Given the description of an element on the screen output the (x, y) to click on. 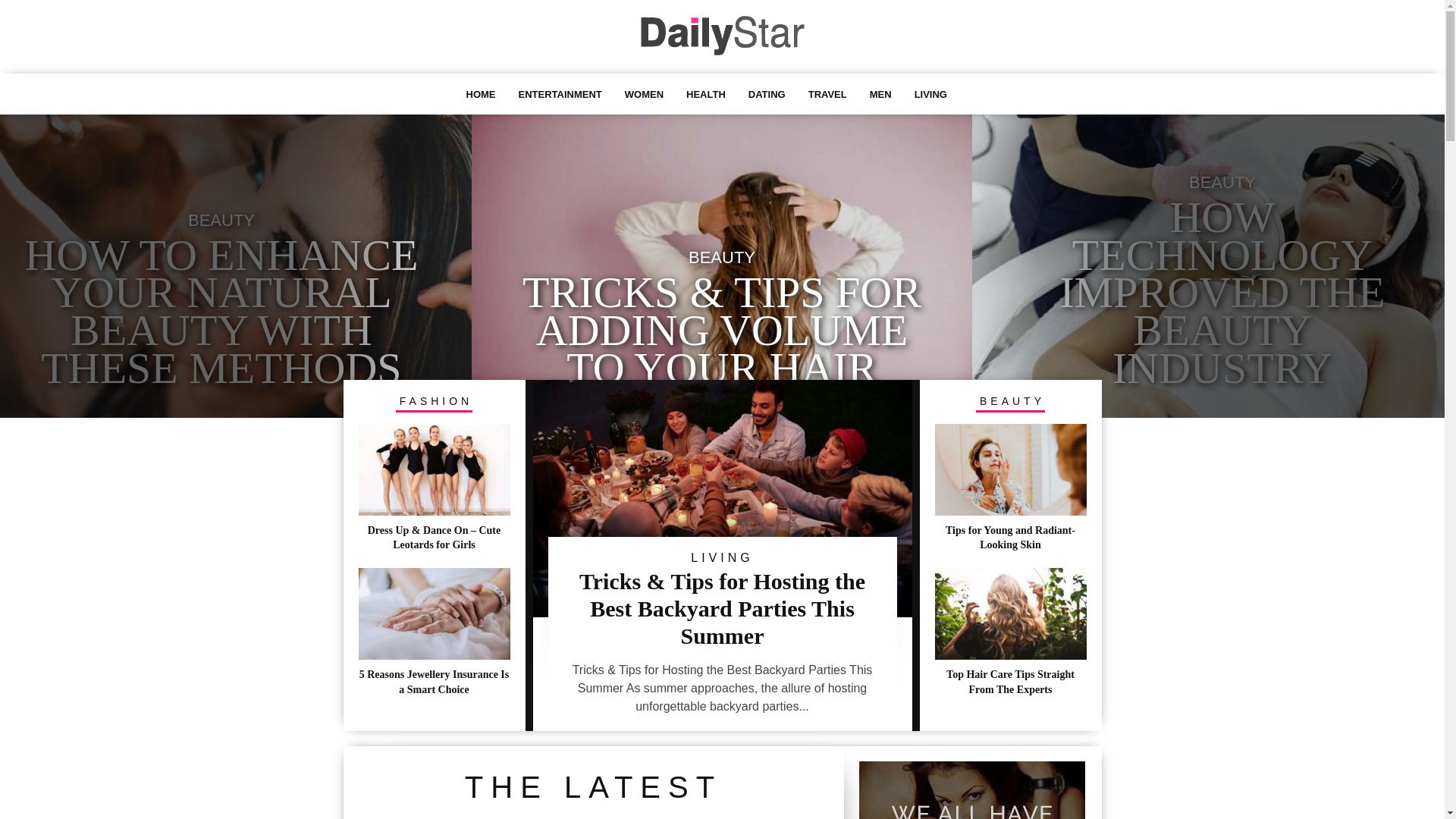
TRAVEL Element type: text (827, 93)
HOME Element type: text (481, 93)
DATING Element type: text (767, 93)
LIVING Element type: text (930, 93)
MEN Element type: text (880, 93)
WOMEN Element type: text (643, 93)
ENTERTAINMENT Element type: text (559, 93)
HEALTH Element type: text (705, 93)
